Given the description of an element on the screen output the (x, y) to click on. 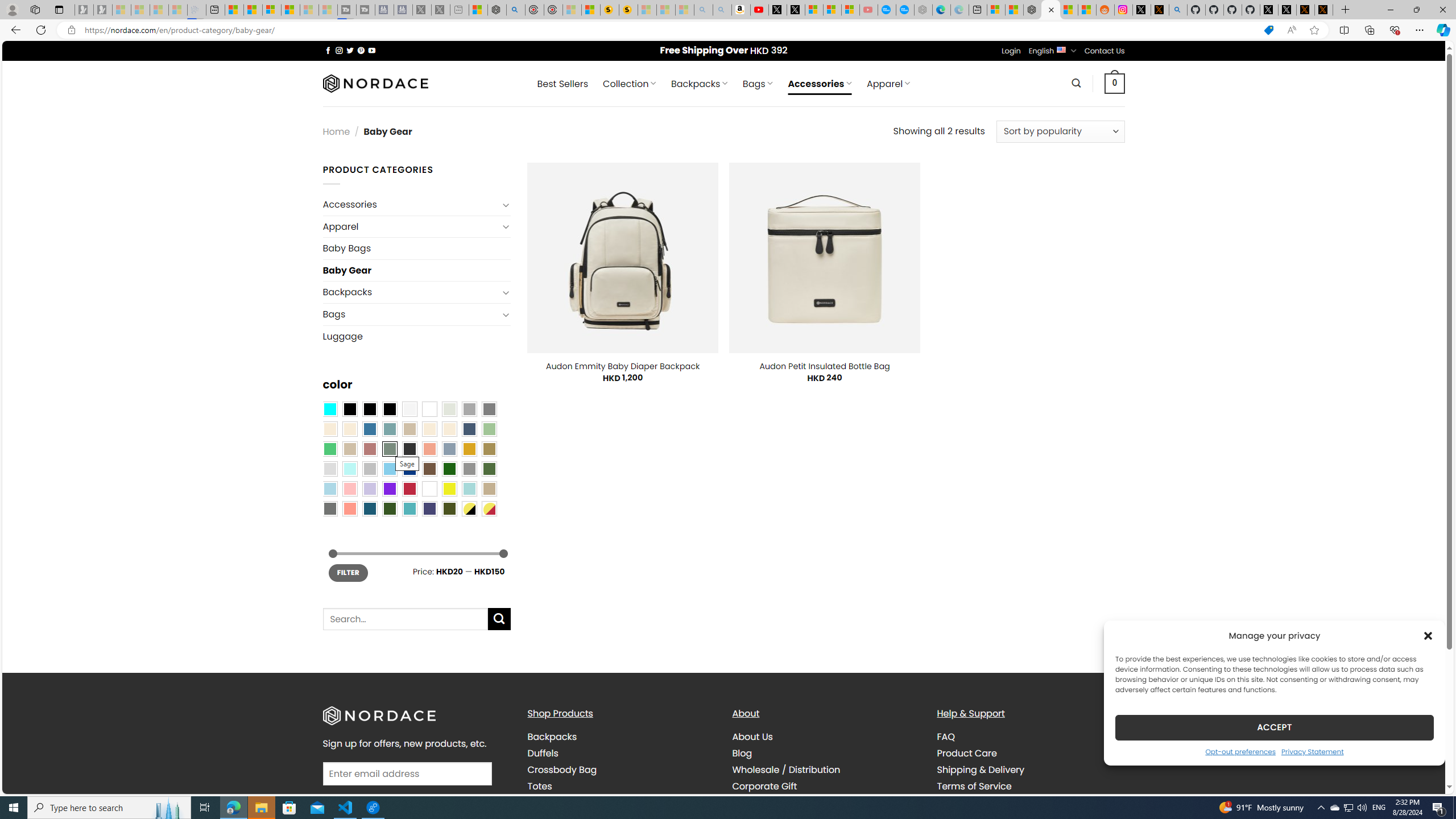
Brown (429, 468)
